Given the description of an element on the screen output the (x, y) to click on. 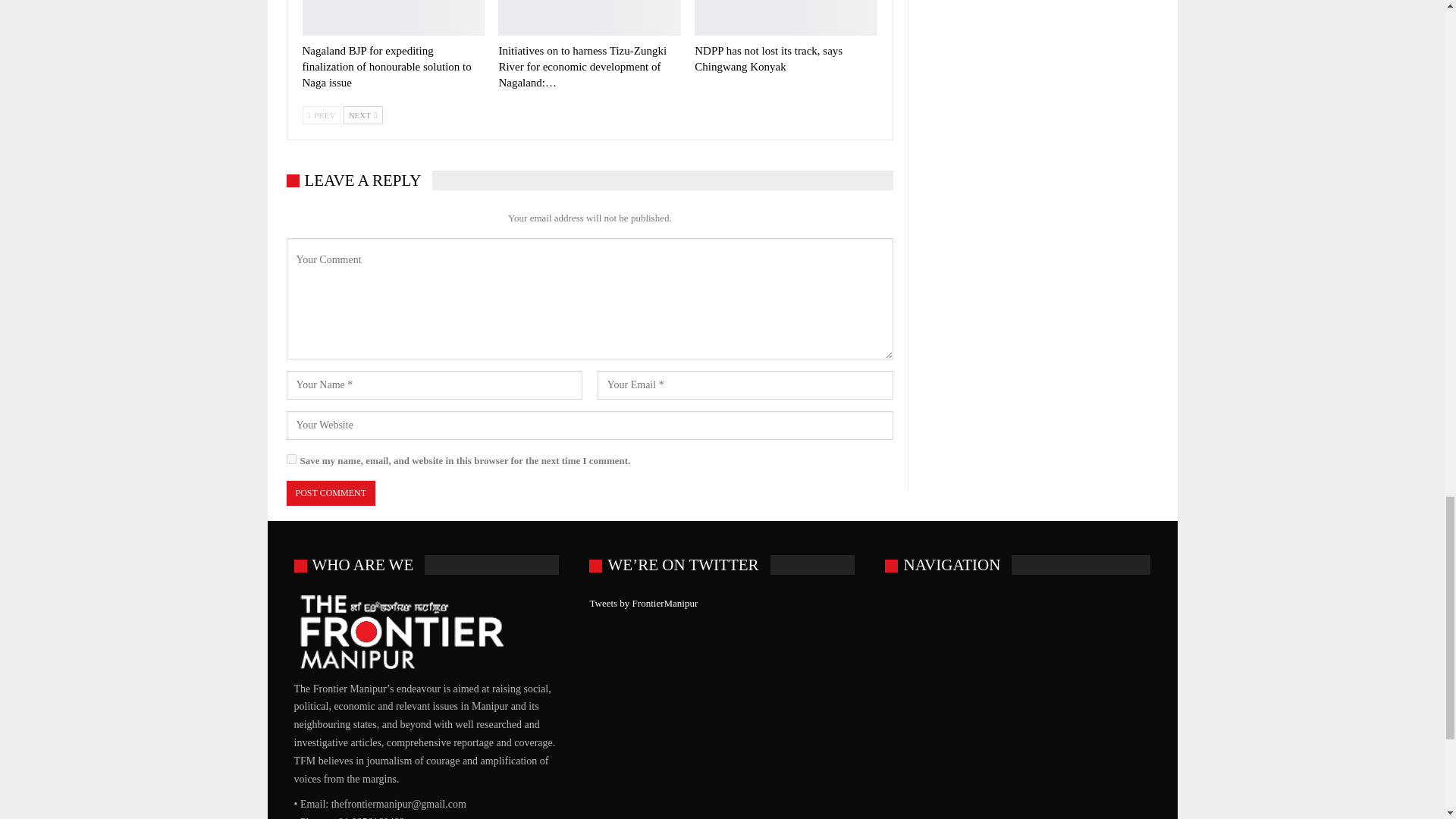
Post Comment (330, 493)
yes (291, 459)
